Given the description of an element on the screen output the (x, y) to click on. 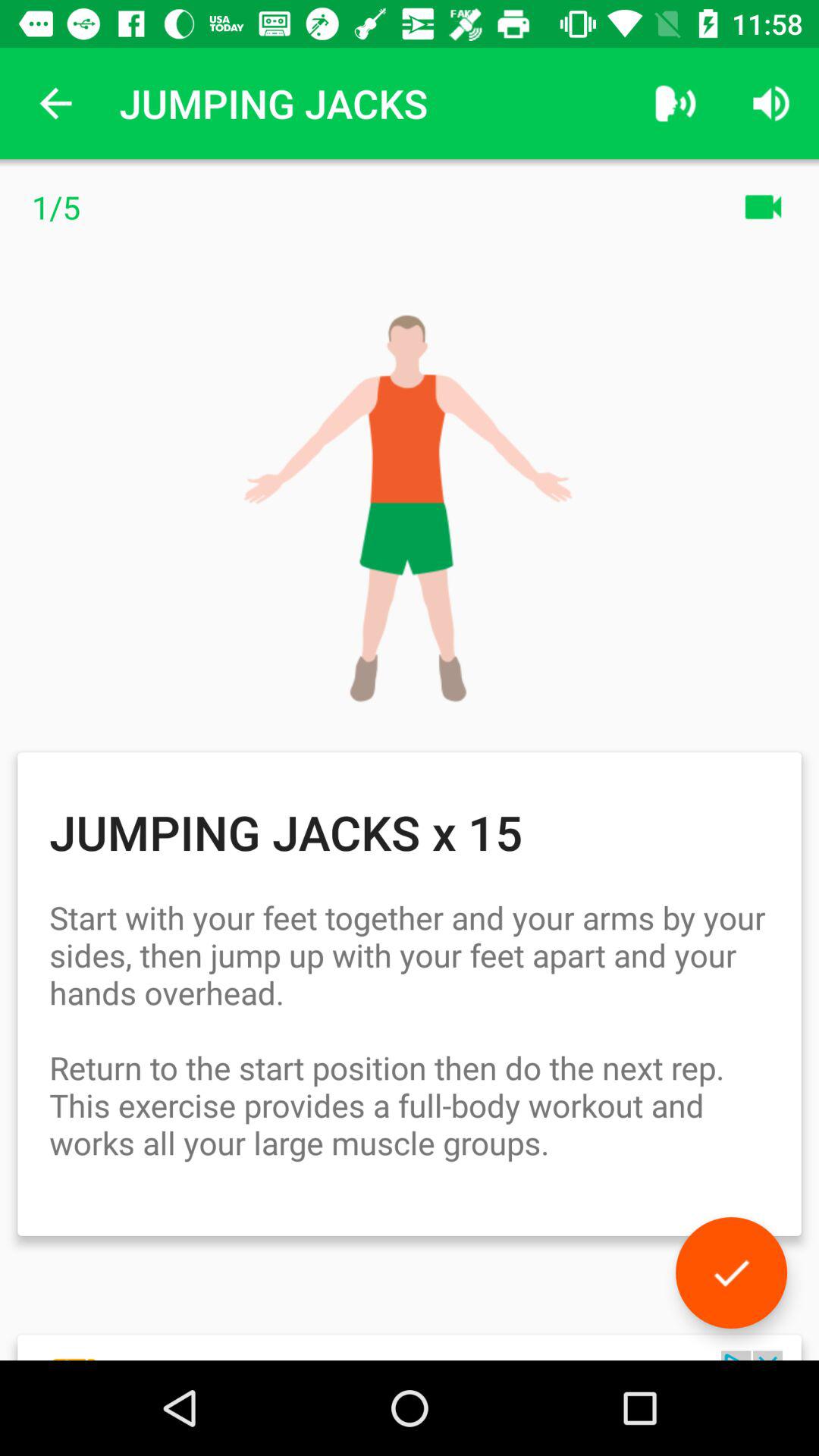
open the app to the left of jumping jacks (55, 103)
